Given the description of an element on the screen output the (x, y) to click on. 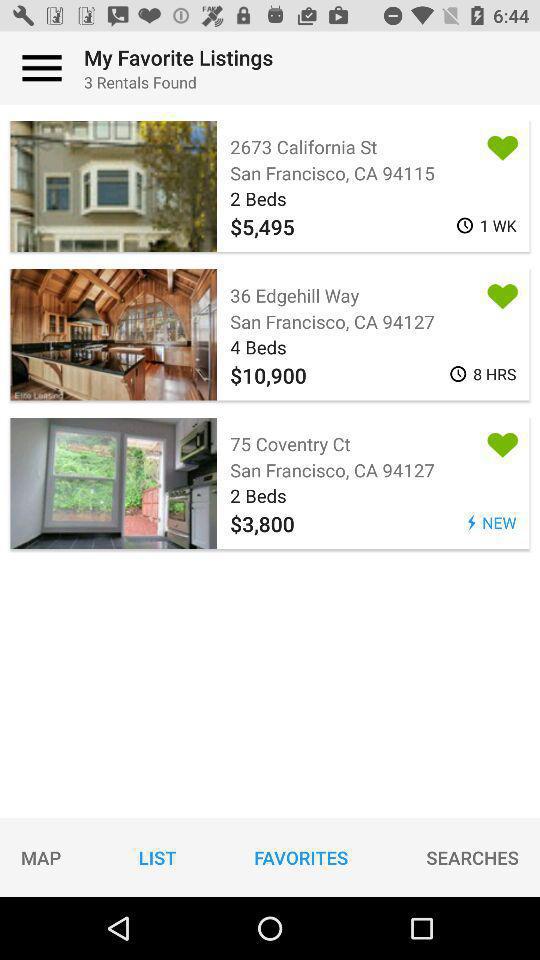
access app menu (41, 68)
